Given the description of an element on the screen output the (x, y) to click on. 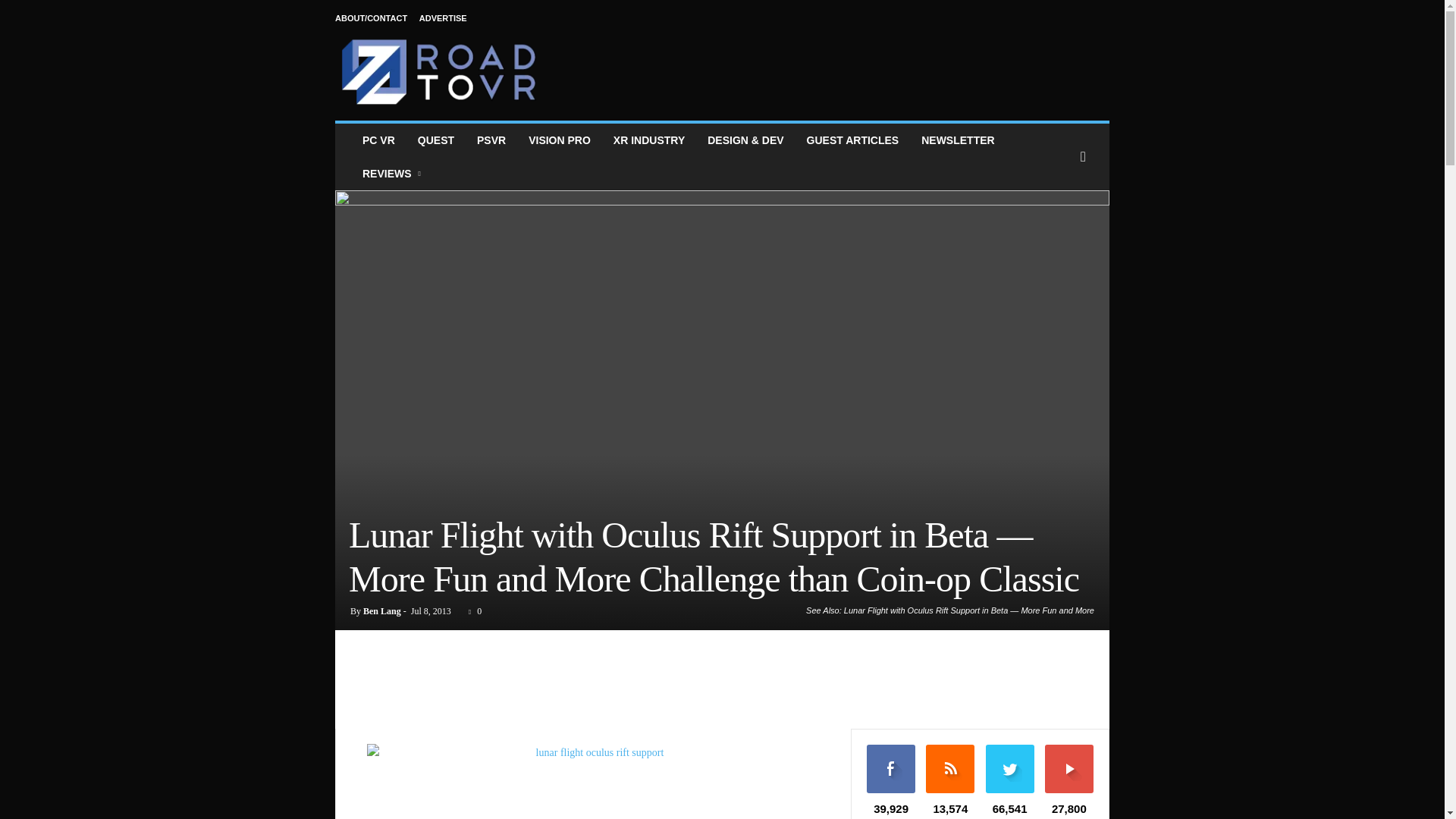
3rd party ad content (833, 61)
ADVERTISE (443, 17)
Ben Lang (381, 611)
3rd party ad content (722, 683)
Road to VR (437, 70)
GUEST ARTICLES (852, 140)
REVIEWS (392, 173)
VISION PRO (559, 140)
XR INDUSTRY (648, 140)
AR VR MR XR News (648, 140)
0 (472, 611)
NEWSLETTER (958, 140)
PSVR (490, 140)
PC VR (378, 140)
